Given the description of an element on the screen output the (x, y) to click on. 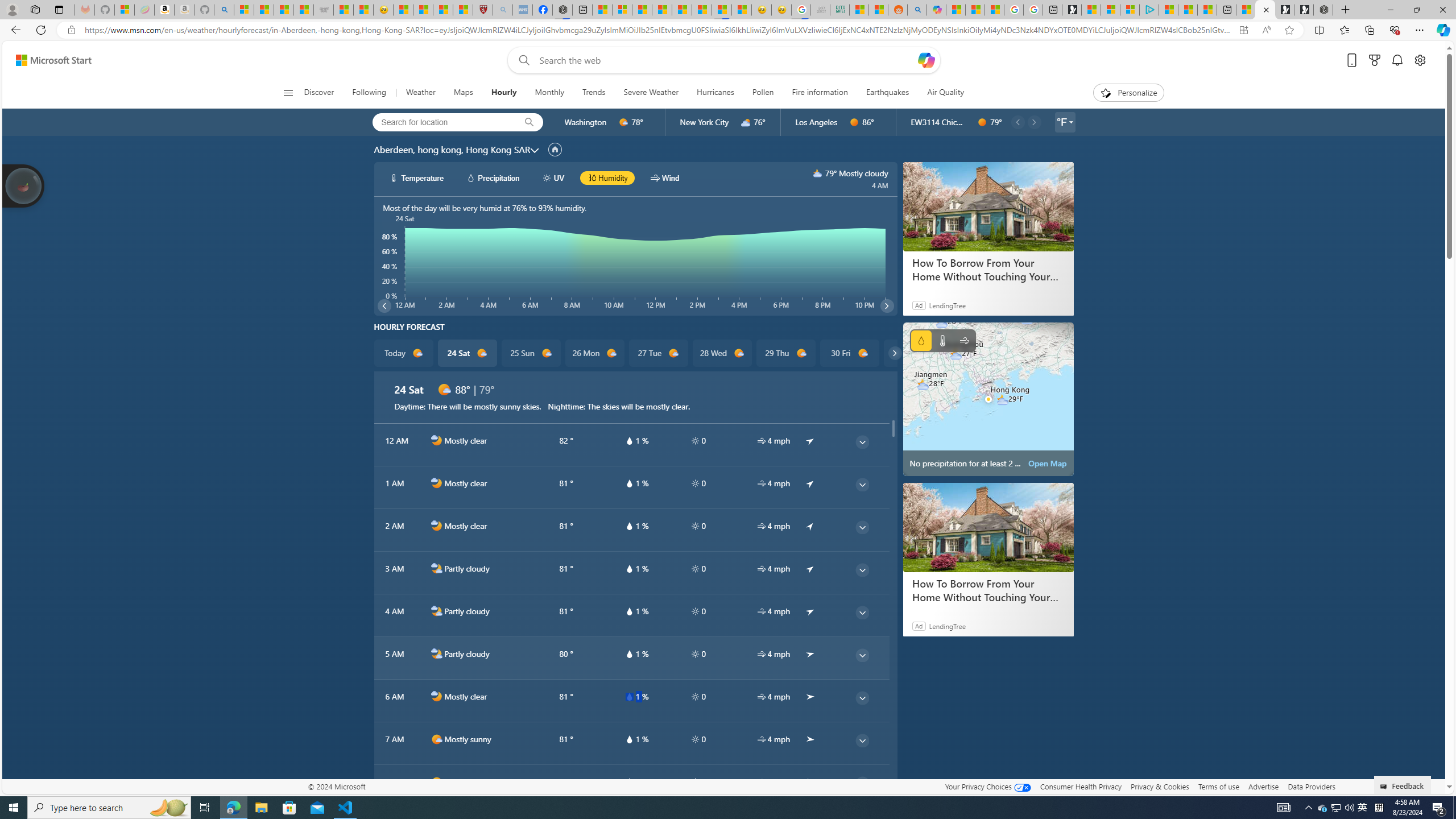
Precipitation (920, 340)
Monthly (549, 92)
30 Fri d1000 (849, 352)
